Given the description of an element on the screen output the (x, y) to click on. 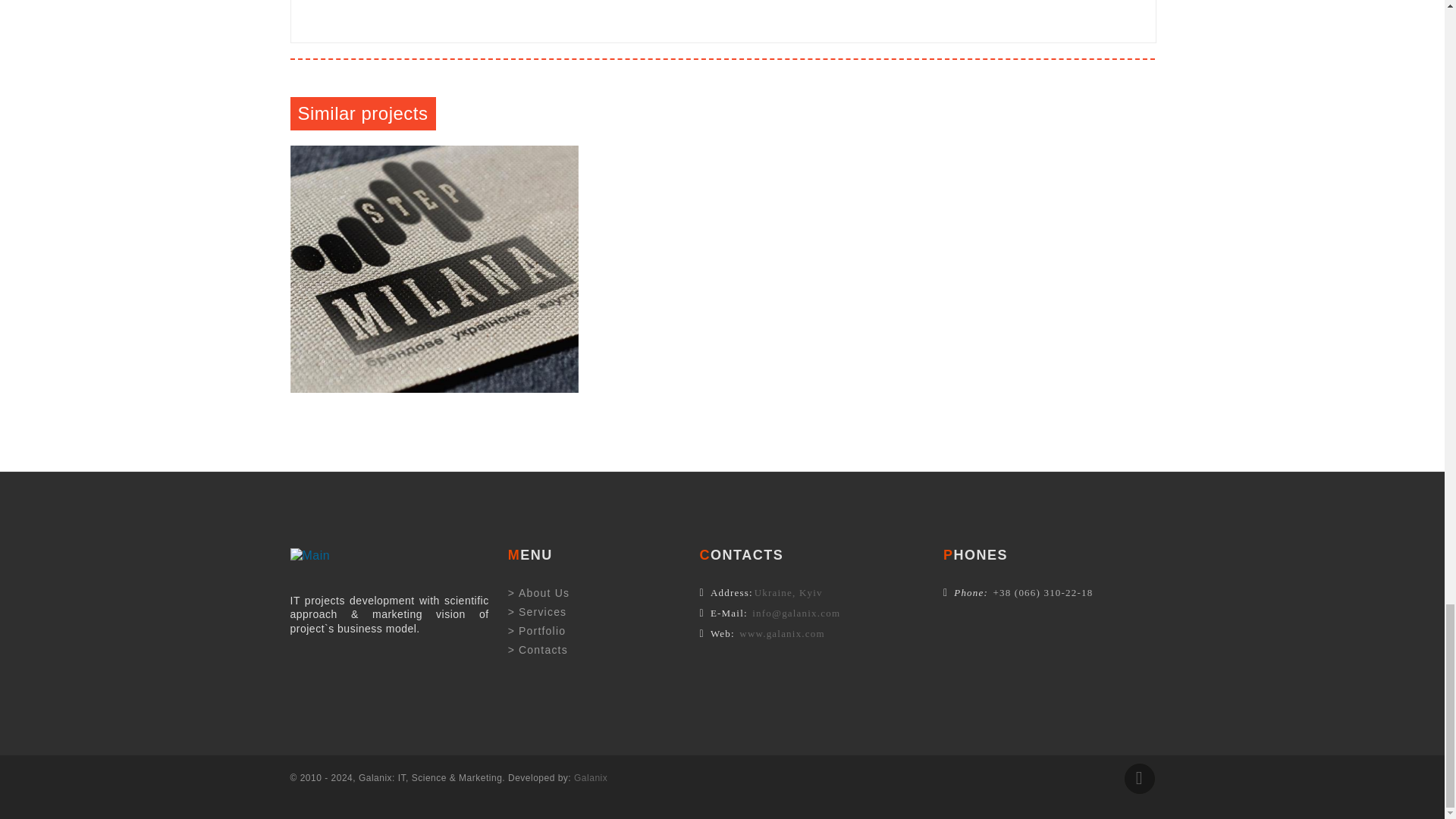
Contacts (537, 649)
About Us (539, 592)
www.galanix.com (780, 633)
Galanix (590, 777)
Portfolio (537, 630)
Services (537, 612)
